Given the description of an element on the screen output the (x, y) to click on. 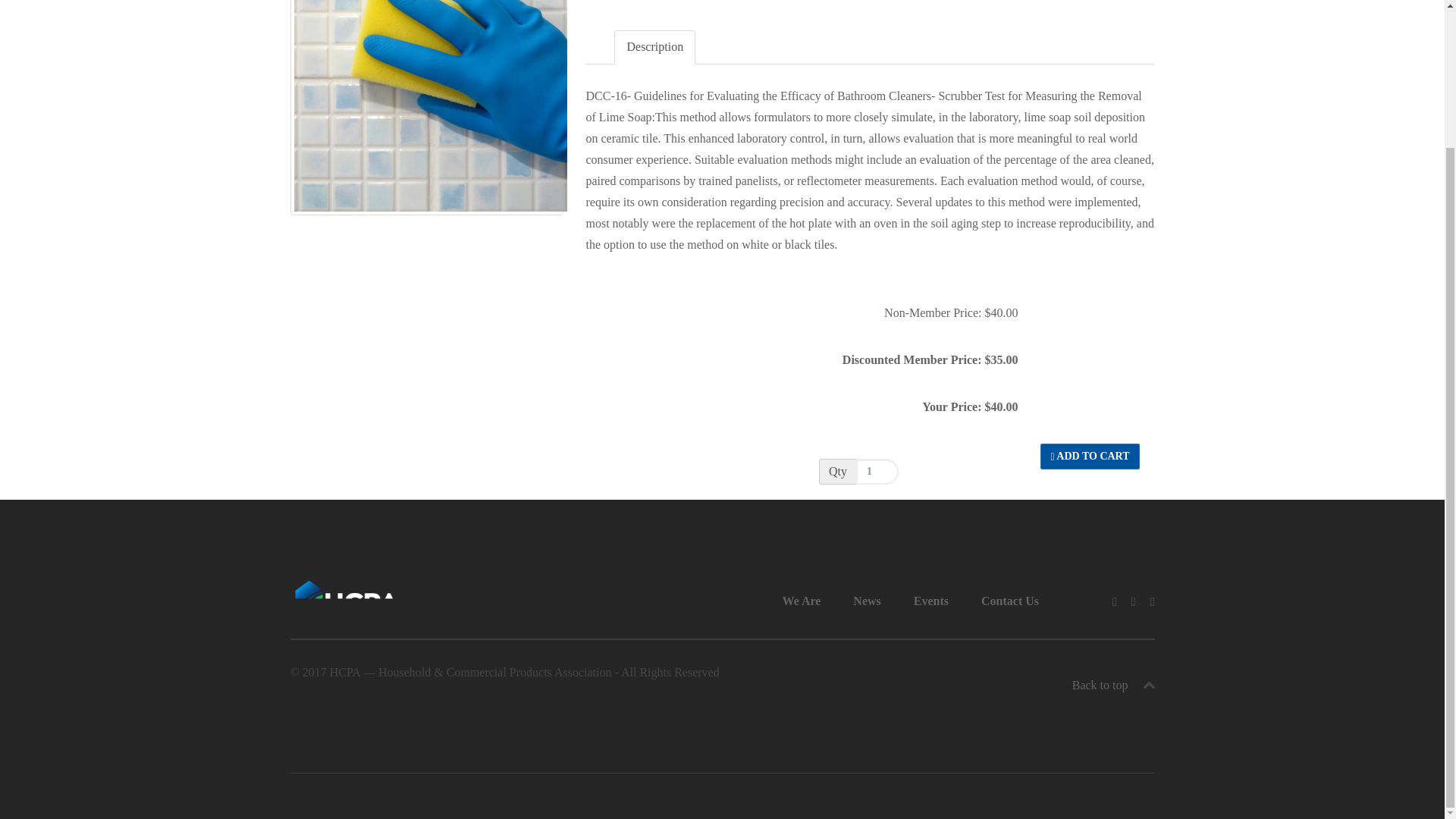
Back to top (1112, 684)
1 (877, 471)
Description (654, 47)
ADD TO CART (1089, 456)
Contact Us (1010, 601)
